Given the description of an element on the screen output the (x, y) to click on. 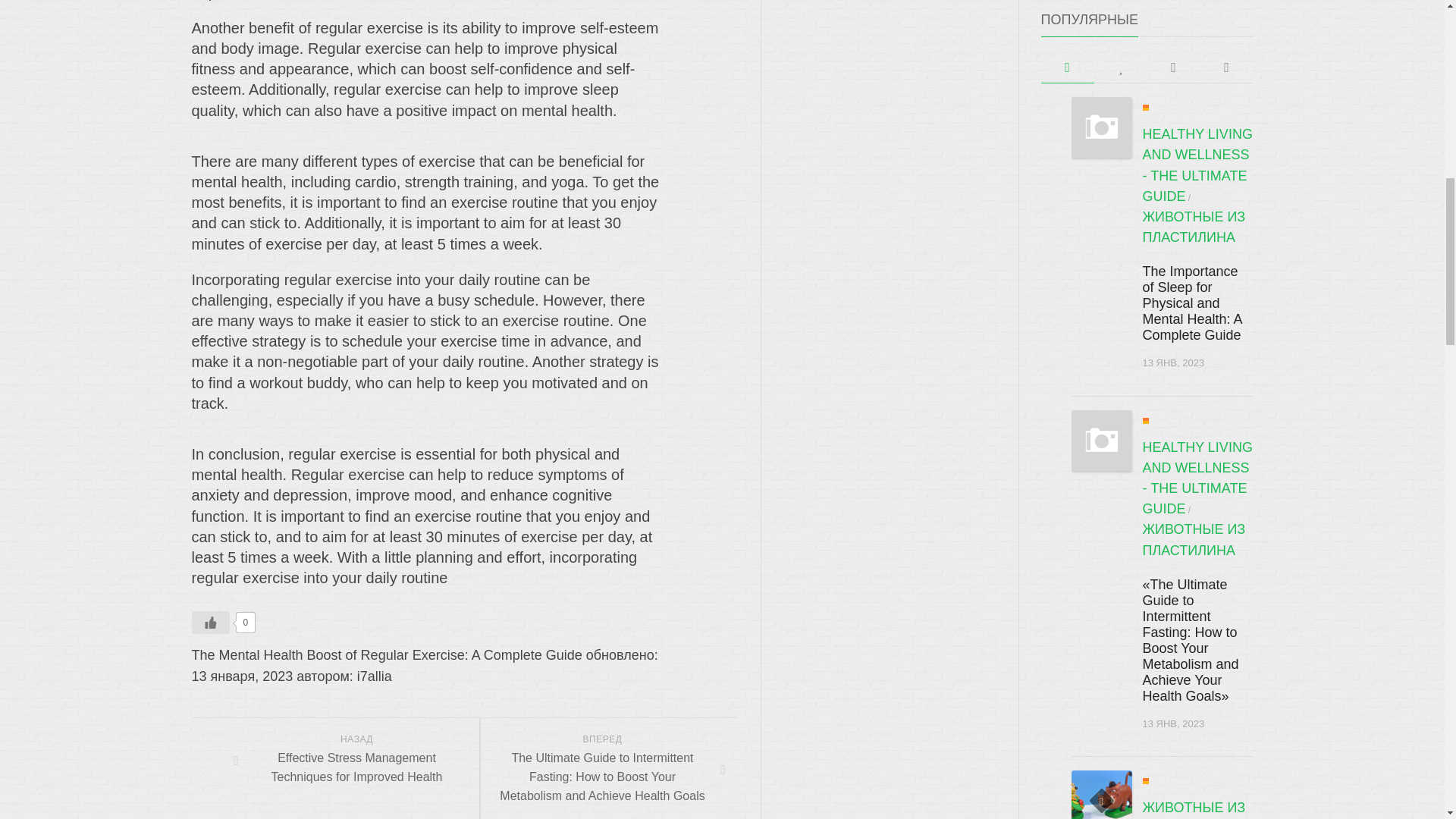
HEALTHY LIVING AND WELLNESS - THE ULTIMATE GUIDE (1196, 164)
